Given the description of an element on the screen output the (x, y) to click on. 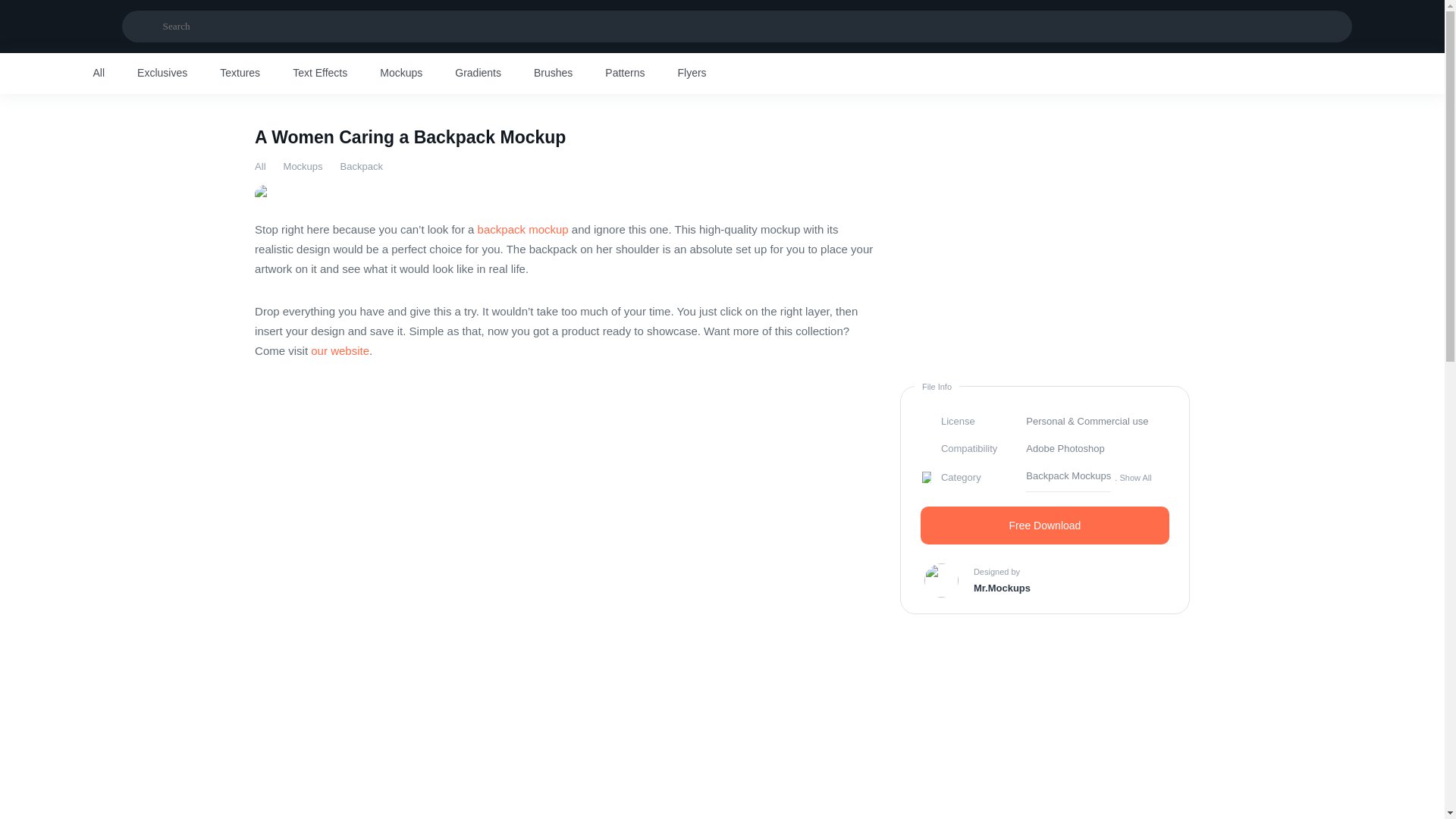
Gradients (477, 73)
Mockups (303, 165)
All (259, 165)
Patterns (625, 73)
Free Download (1044, 525)
our website (340, 350)
Backpack (361, 165)
backpack mockup (523, 228)
Textures (239, 73)
Mockups (401, 73)
Mr.Mockups (1002, 588)
Exclusives (161, 73)
Text Effects (319, 73)
. Show All (1133, 476)
Brushes (553, 73)
